Given the description of an element on the screen output the (x, y) to click on. 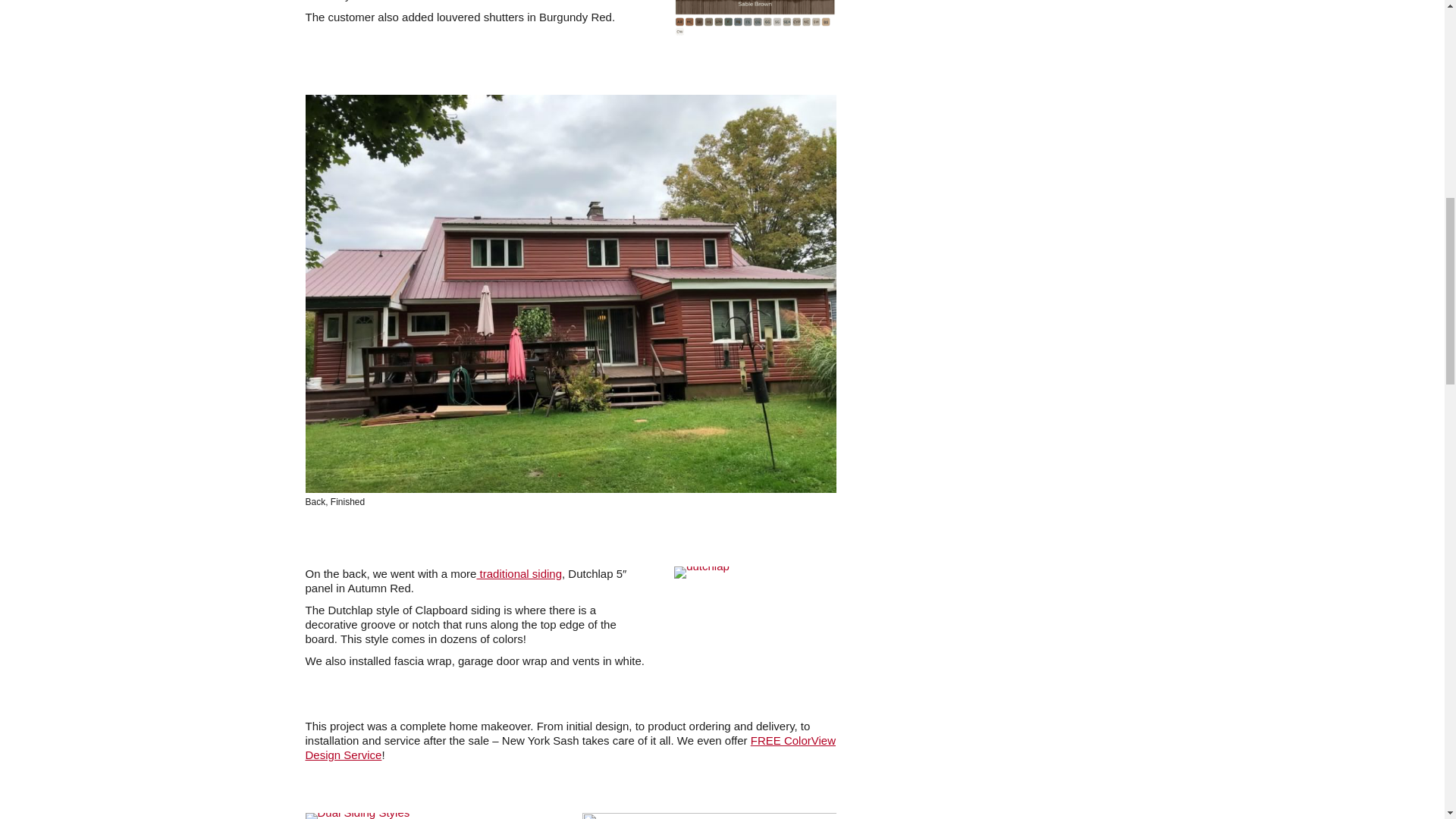
3-min (356, 816)
dutchlap (701, 572)
straight edge rough (754, 18)
4-min (708, 816)
